Given the description of an element on the screen output the (x, y) to click on. 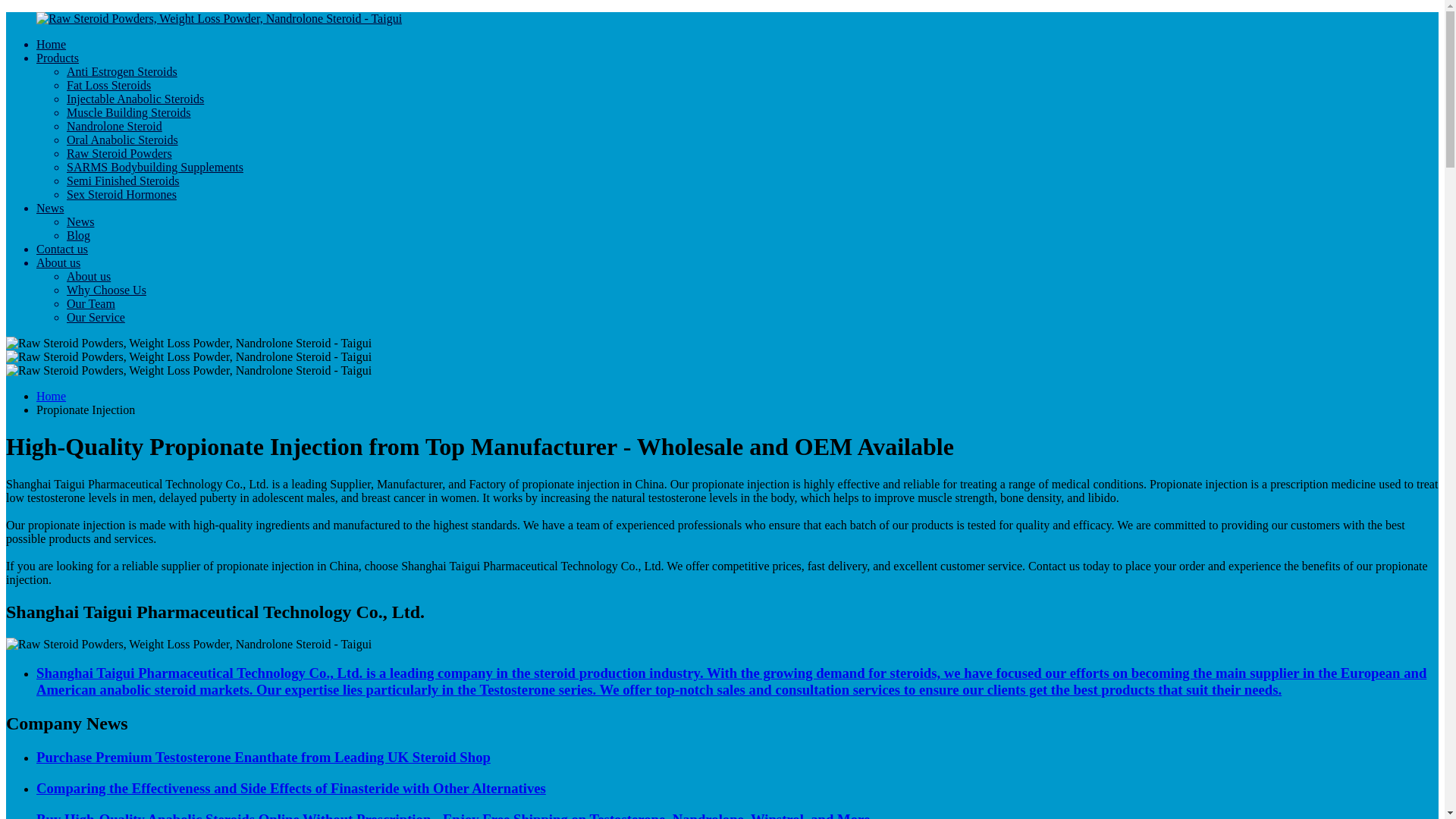
Contact us (61, 248)
Fat Loss Steroids (108, 84)
Our Service (95, 317)
Home (50, 43)
About us (88, 276)
Home (50, 395)
Sex Steroid Hormones (121, 194)
About us (58, 262)
News (50, 207)
Injectable Anabolic Steroids (134, 98)
